Given the description of an element on the screen output the (x, y) to click on. 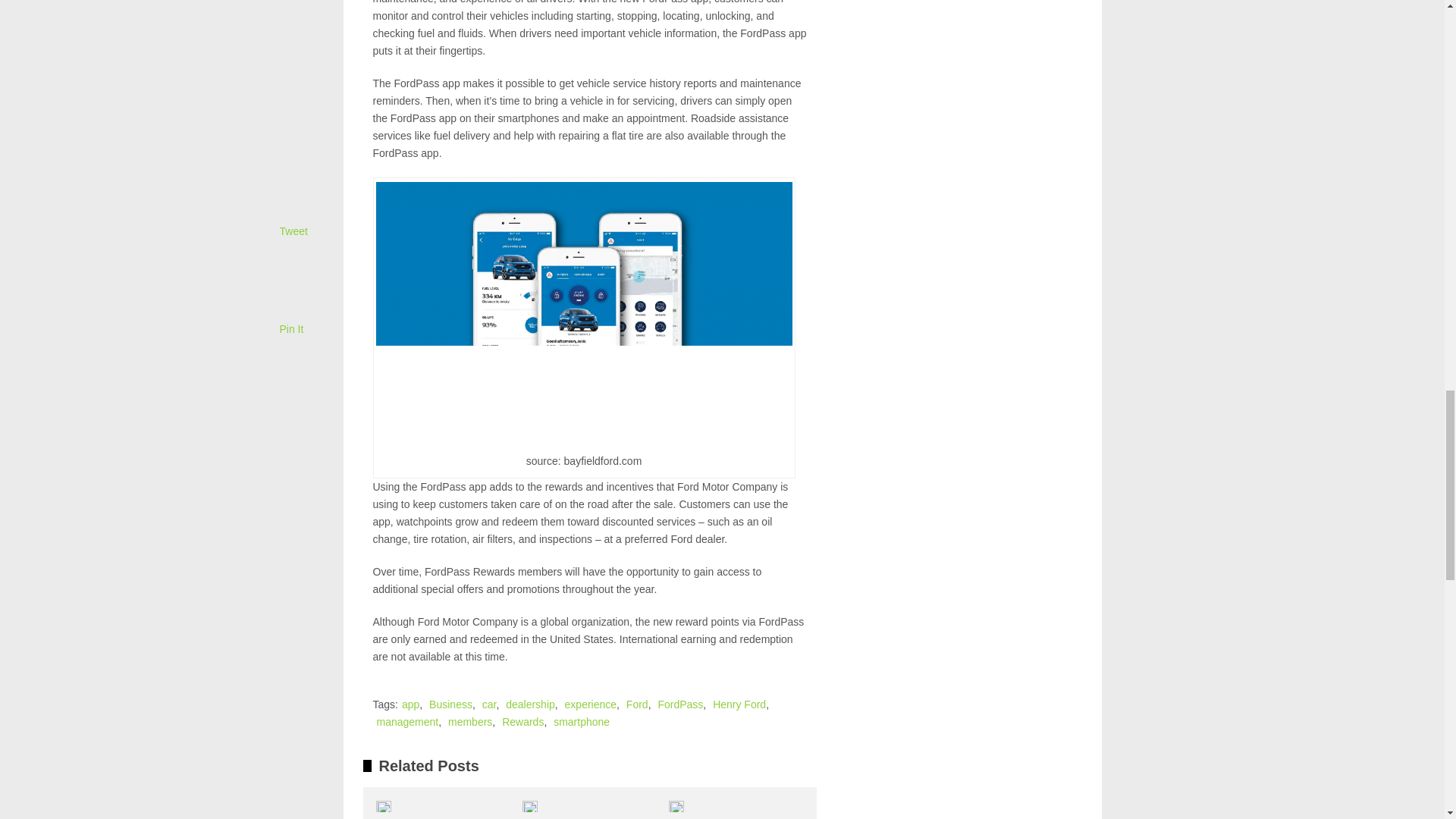
dealership (529, 704)
FordPass (680, 704)
app (410, 704)
Ford (636, 704)
car (488, 704)
experience (590, 704)
Business (450, 704)
